Given the description of an element on the screen output the (x, y) to click on. 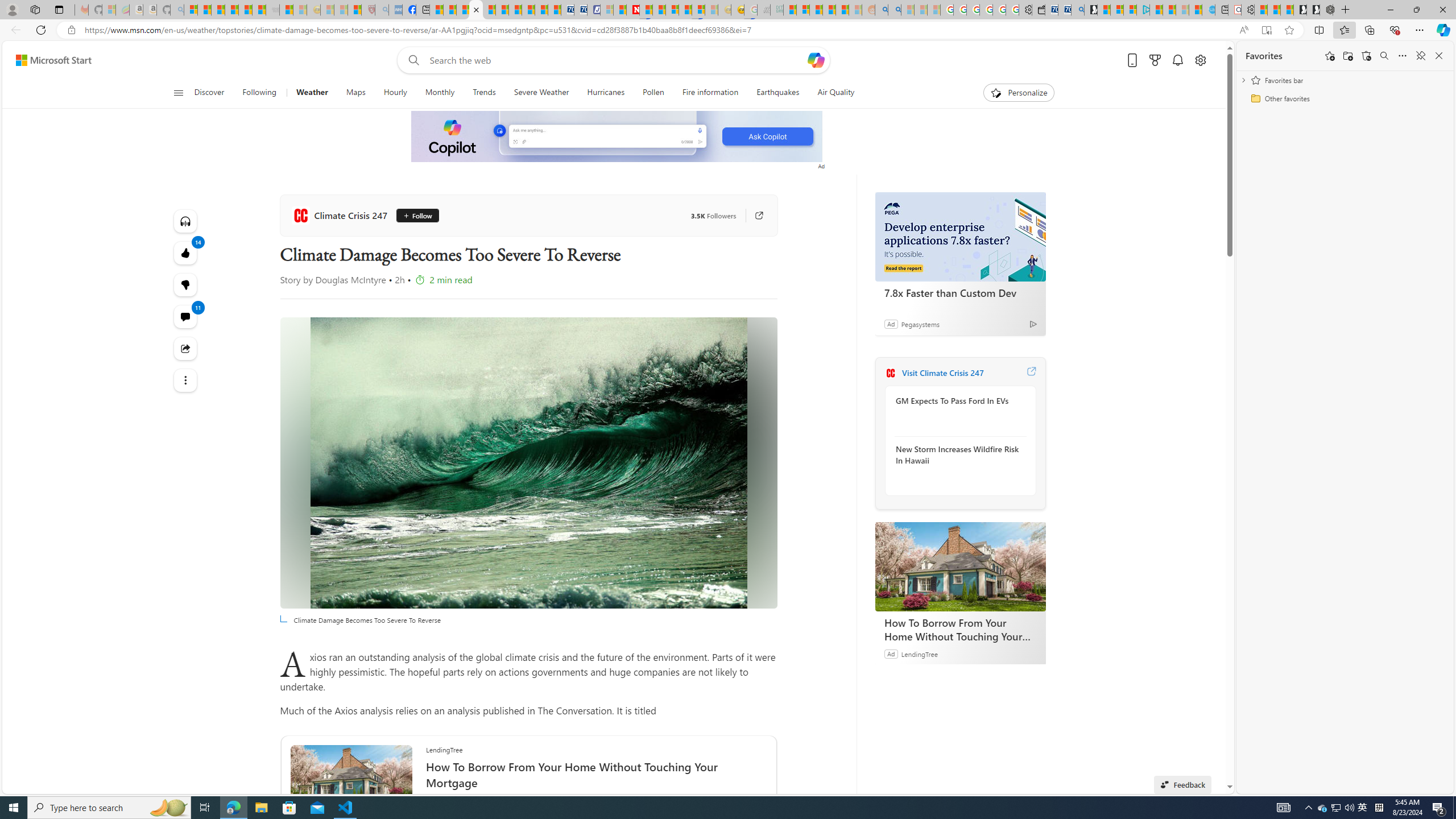
Hurricanes (606, 92)
